Given the description of an element on the screen output the (x, y) to click on. 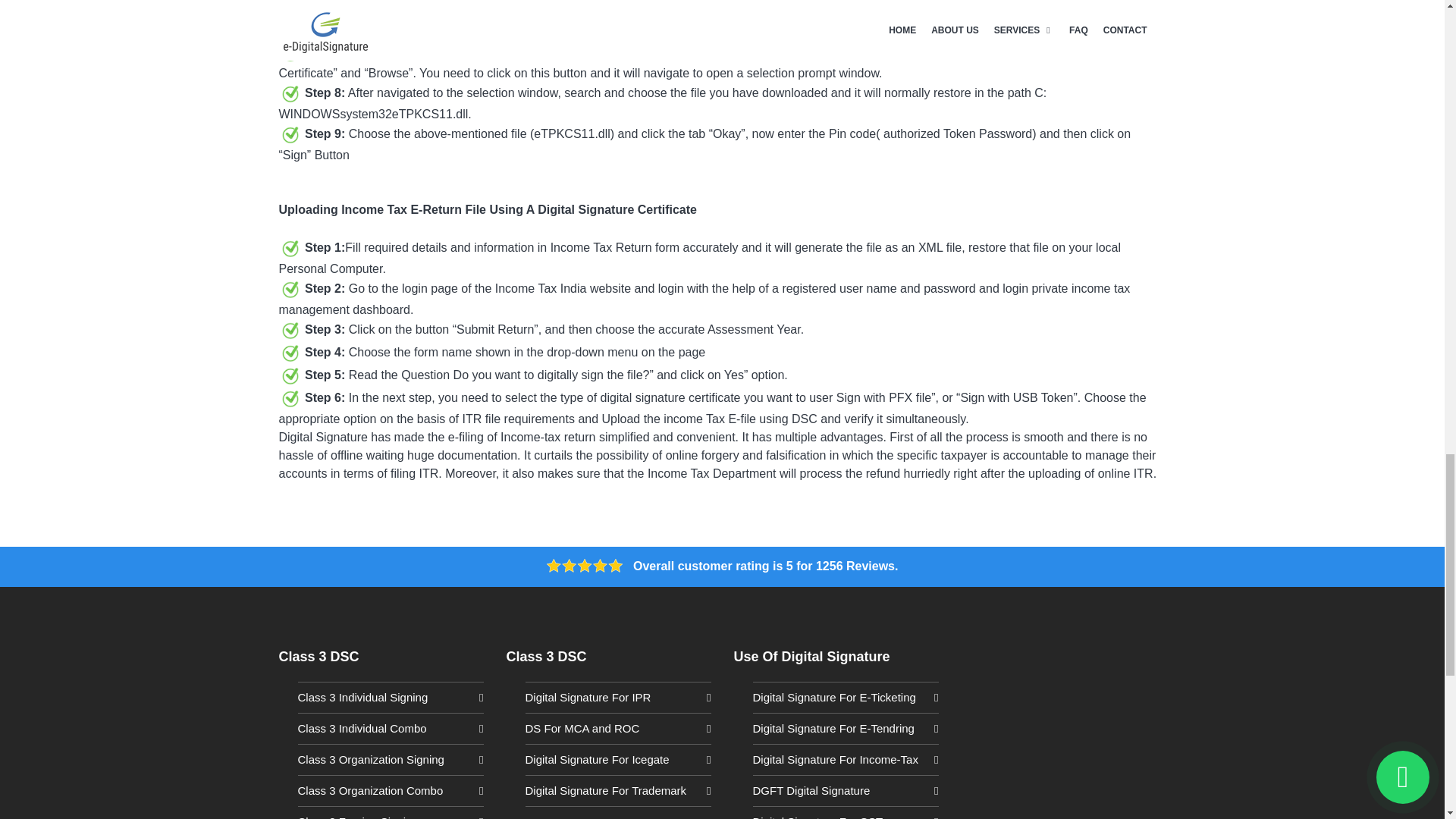
Digital Signature For E-Tendring (844, 728)
Digital Signature For IPR (617, 697)
Digital Signature For Income-Tax (844, 759)
Digital Signature For Icegate (617, 759)
Digital Signature For Trademark (617, 790)
Class 3 Organization Combo (390, 790)
DGFT Digital Signature (844, 790)
Digital Signature For E-Ticketing (844, 697)
Class 3 Organization Signing (390, 759)
DS For MCA and ROC (617, 728)
